Given the description of an element on the screen output the (x, y) to click on. 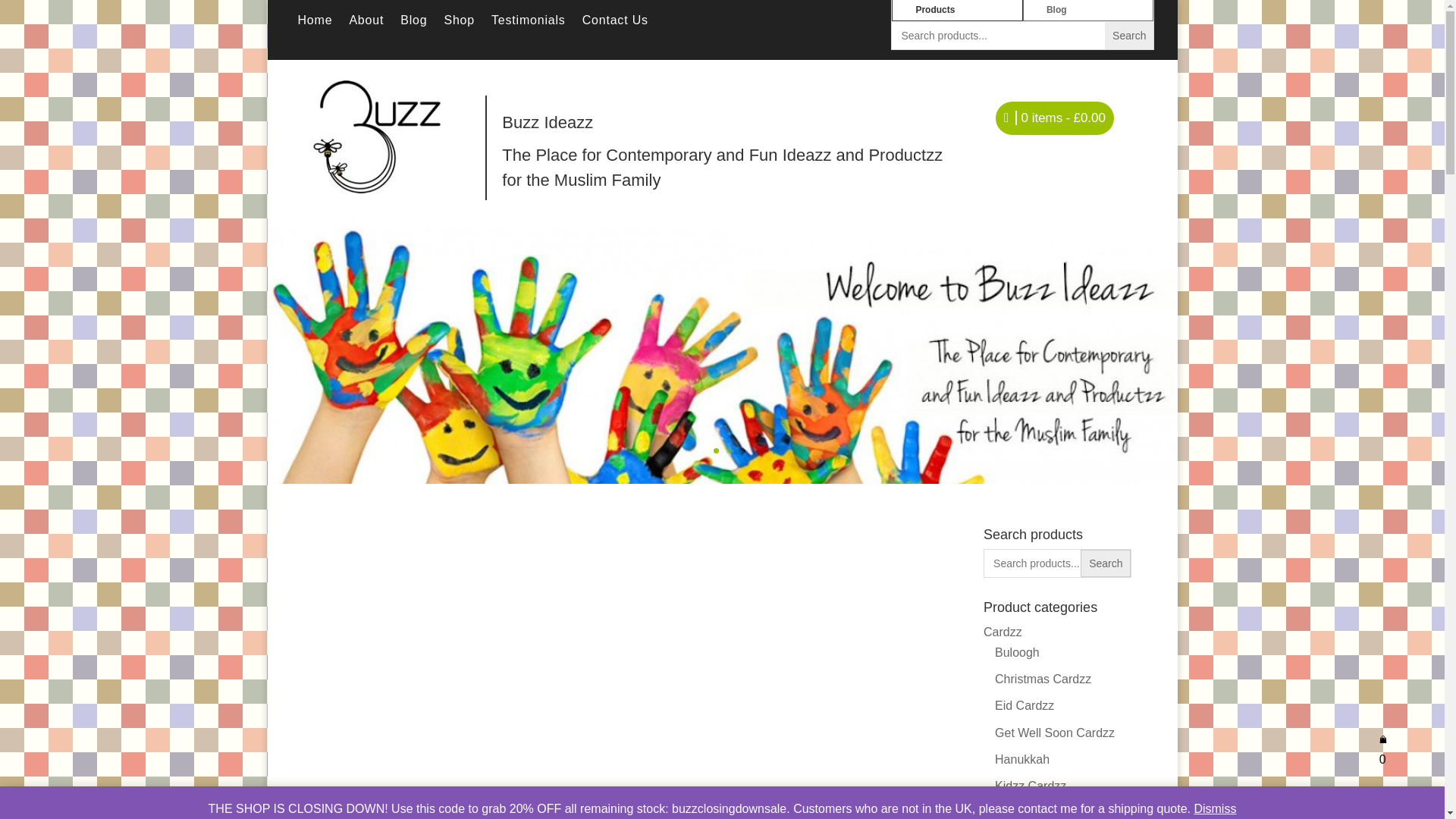
Search (1129, 35)
2 (729, 450)
Search (1129, 35)
Search (1105, 563)
Contact Us (614, 23)
Testimonials (529, 23)
Search (1105, 563)
Search (1129, 35)
Shop (459, 23)
Home (314, 23)
Products (957, 10)
Blog (413, 23)
Start shopping (1054, 120)
About (366, 23)
